Given the description of an element on the screen output the (x, y) to click on. 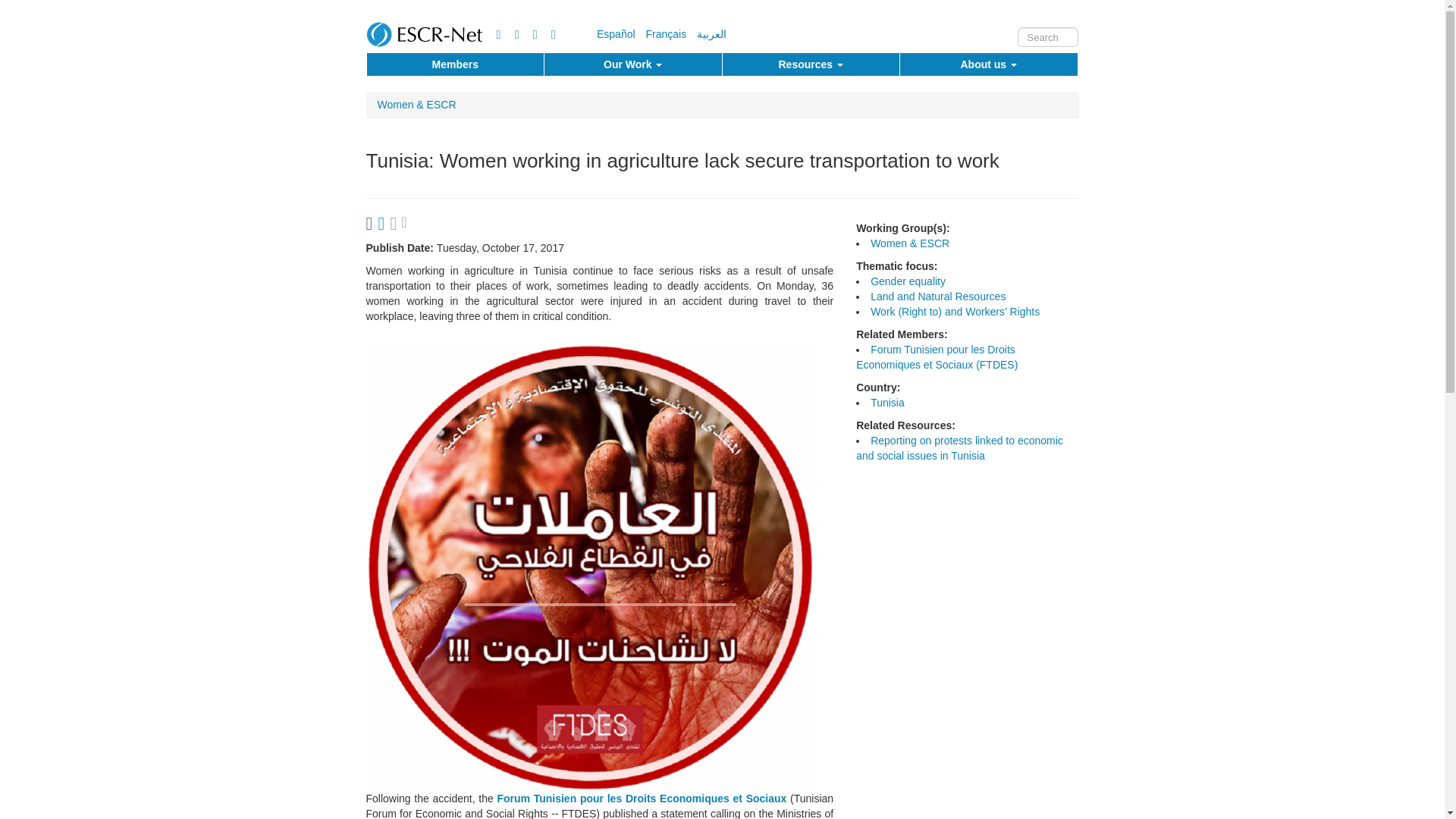
Follow us on Instagram (555, 34)
Our Work (633, 64)
About us (988, 64)
Follow us on Twitter (500, 34)
Resources (810, 64)
About our members (455, 64)
Follow us on Facebook (519, 34)
Members (455, 64)
